Given the description of an element on the screen output the (x, y) to click on. 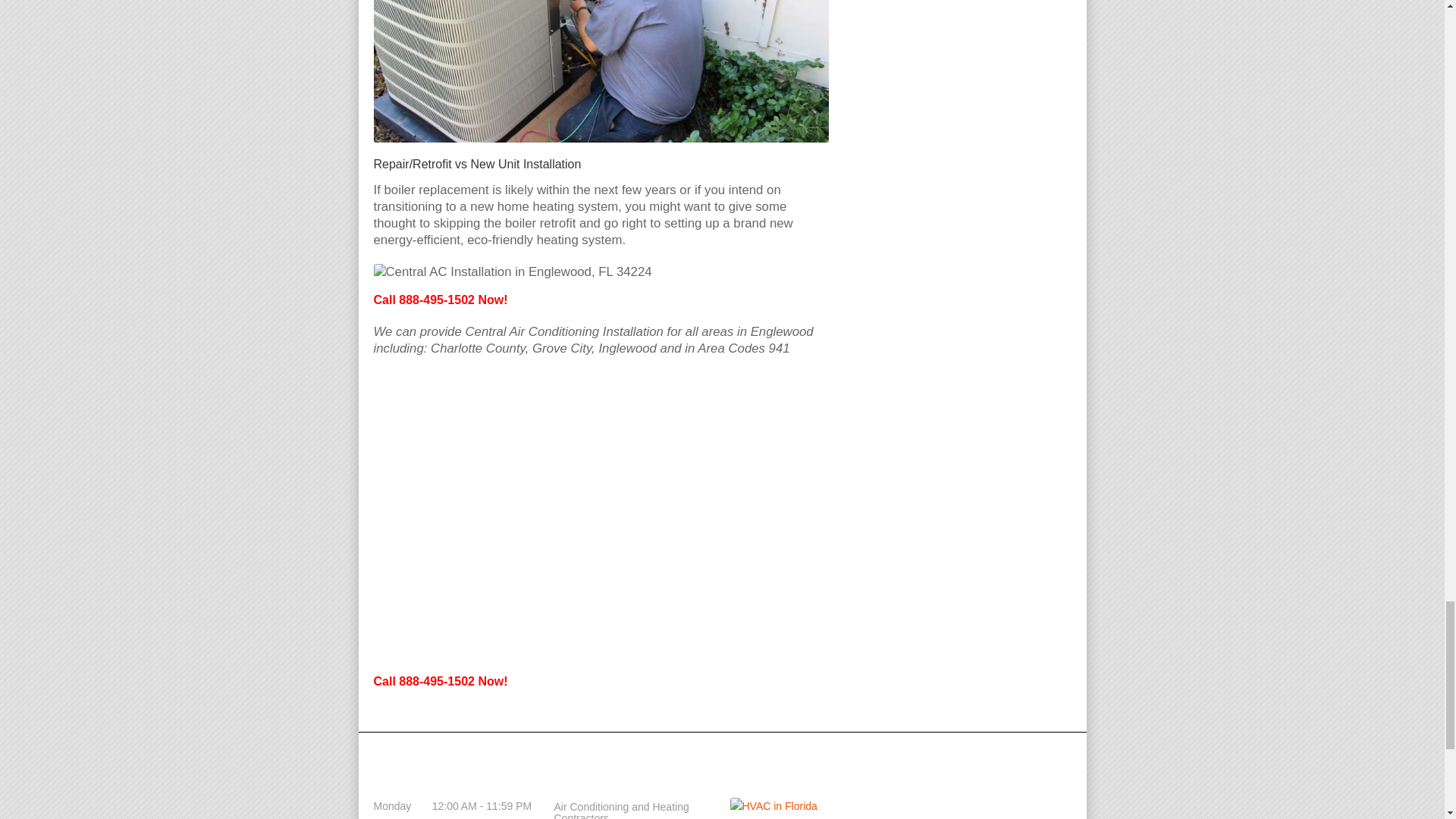
Central AC Installation in Englewood, FL 34224 (511, 271)
Central AC Installation in Englewood, FL 34224 (600, 71)
Call 888-495-1502 Now! (439, 298)
Call 888-495-1502 Now! (439, 680)
